Given the description of an element on the screen output the (x, y) to click on. 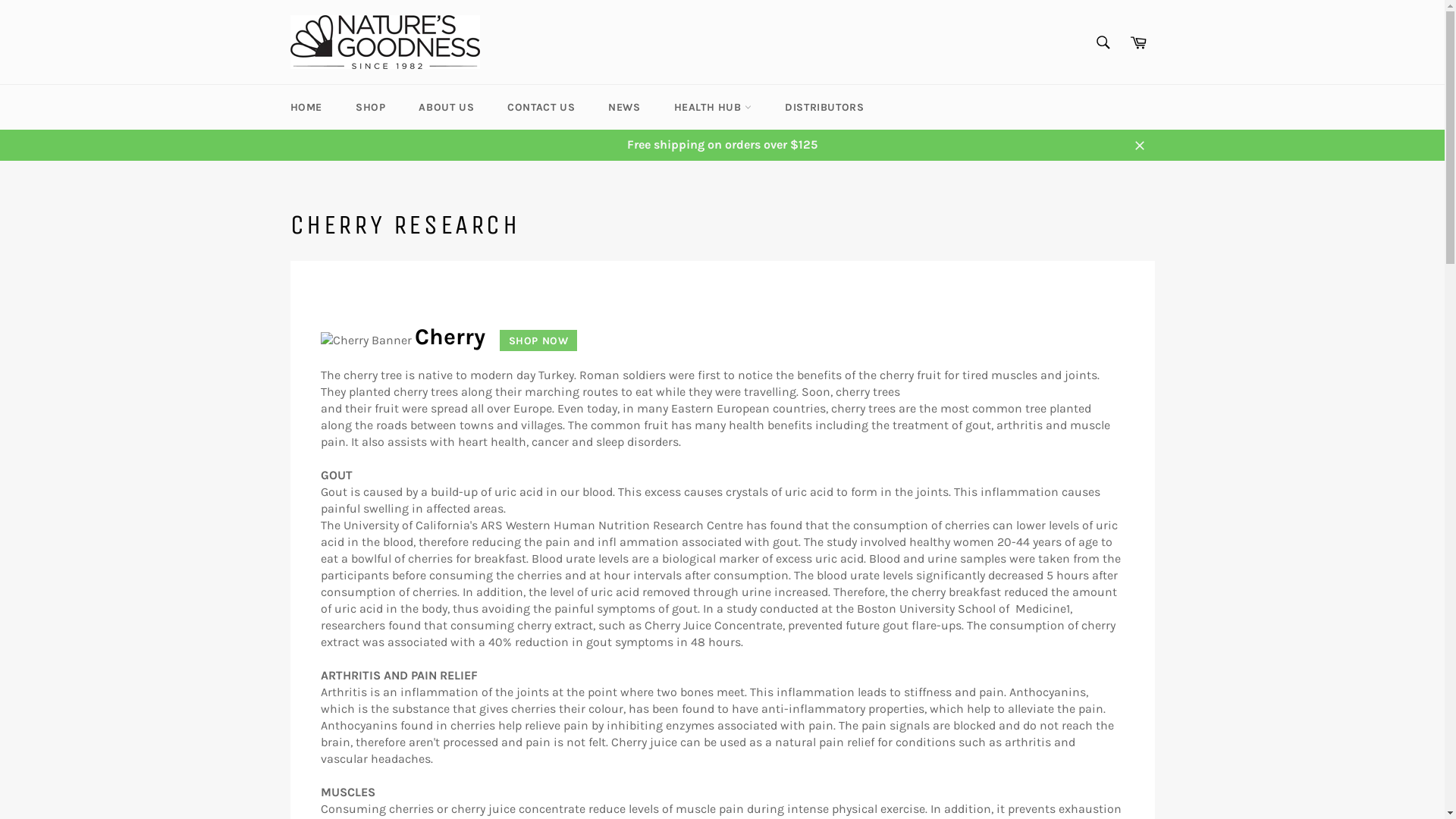
DISTRIBUTORS Element type: text (823, 106)
SHOP Element type: text (370, 106)
SHOP NOW Element type: text (532, 339)
Cart Element type: text (1138, 41)
ABOUT US Element type: text (446, 106)
CONTACT US Element type: text (540, 106)
NEWS Element type: text (624, 106)
HOME Element type: text (305, 106)
Close Element type: text (1138, 144)
HEALTH HUB Element type: text (712, 106)
Search Element type: text (1103, 41)
Free shipping on orders over $125 Element type: text (721, 144)
